Given the description of an element on the screen output the (x, y) to click on. 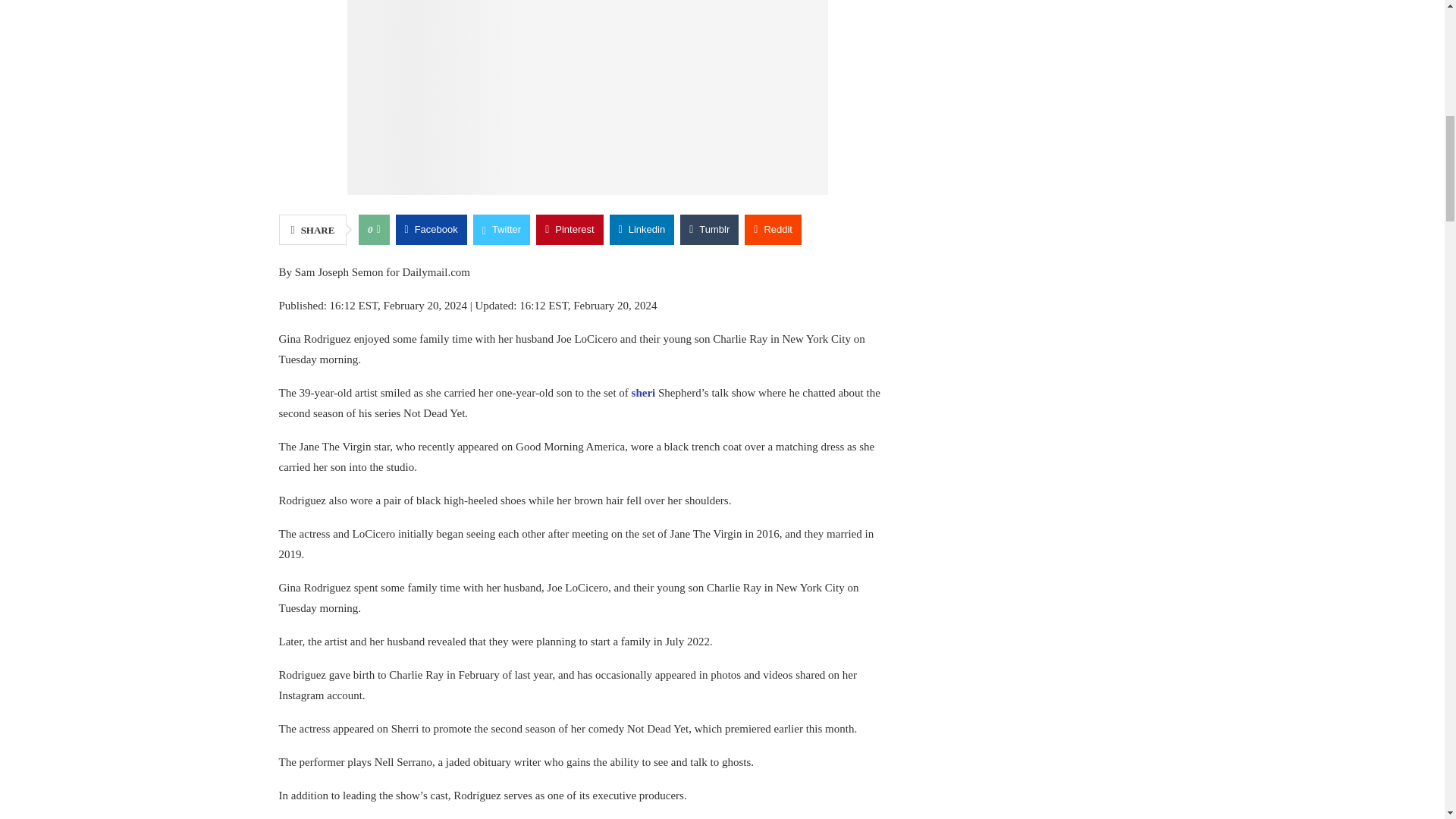
Gina Rodriguez is a beaming mom as she holds baby (587, 97)
